Given the description of an element on the screen output the (x, y) to click on. 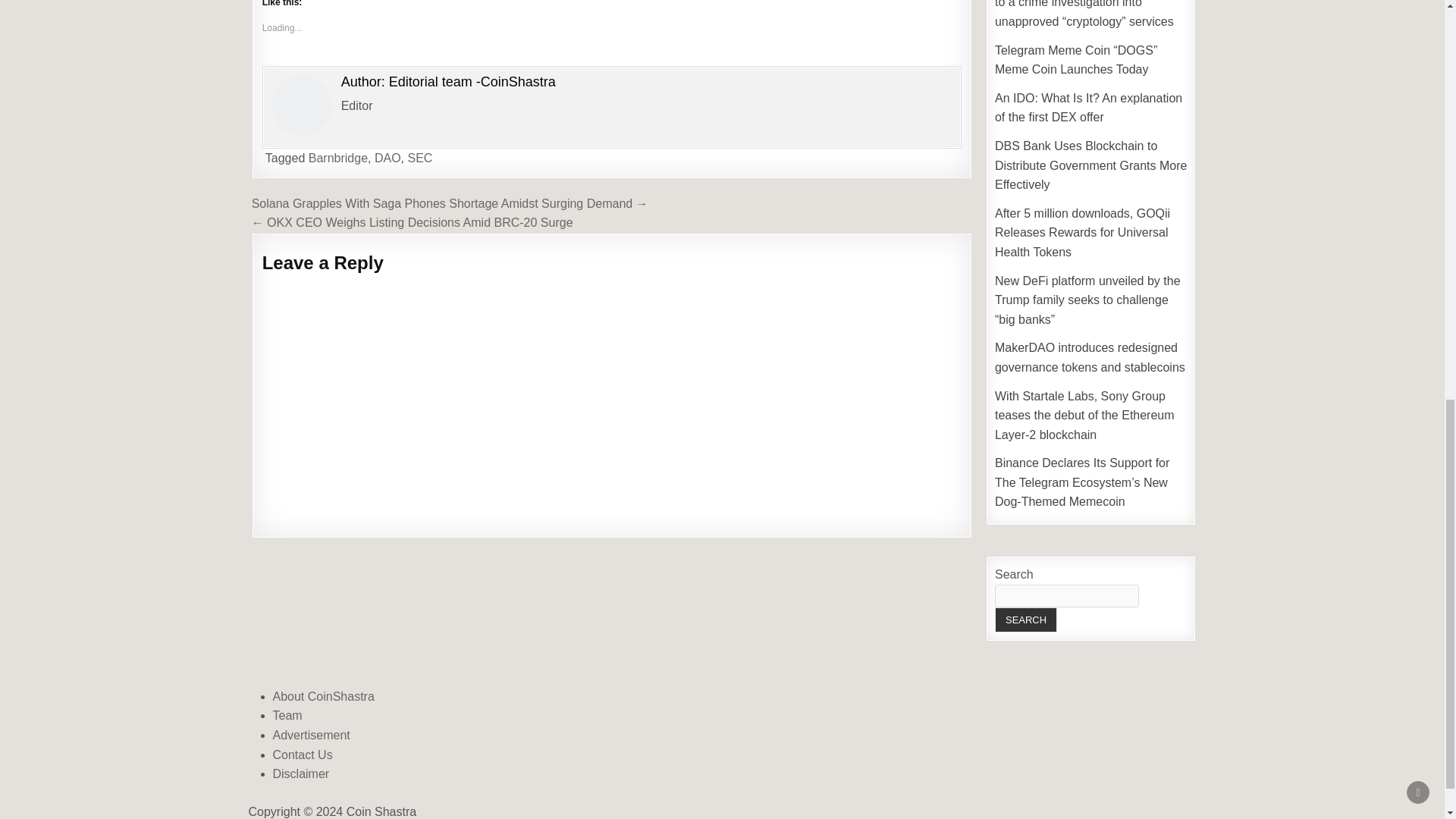
Barnbridge (338, 157)
Editorial team -CoinShastra (472, 81)
DAO (387, 157)
SEC (419, 157)
